Given the description of an element on the screen output the (x, y) to click on. 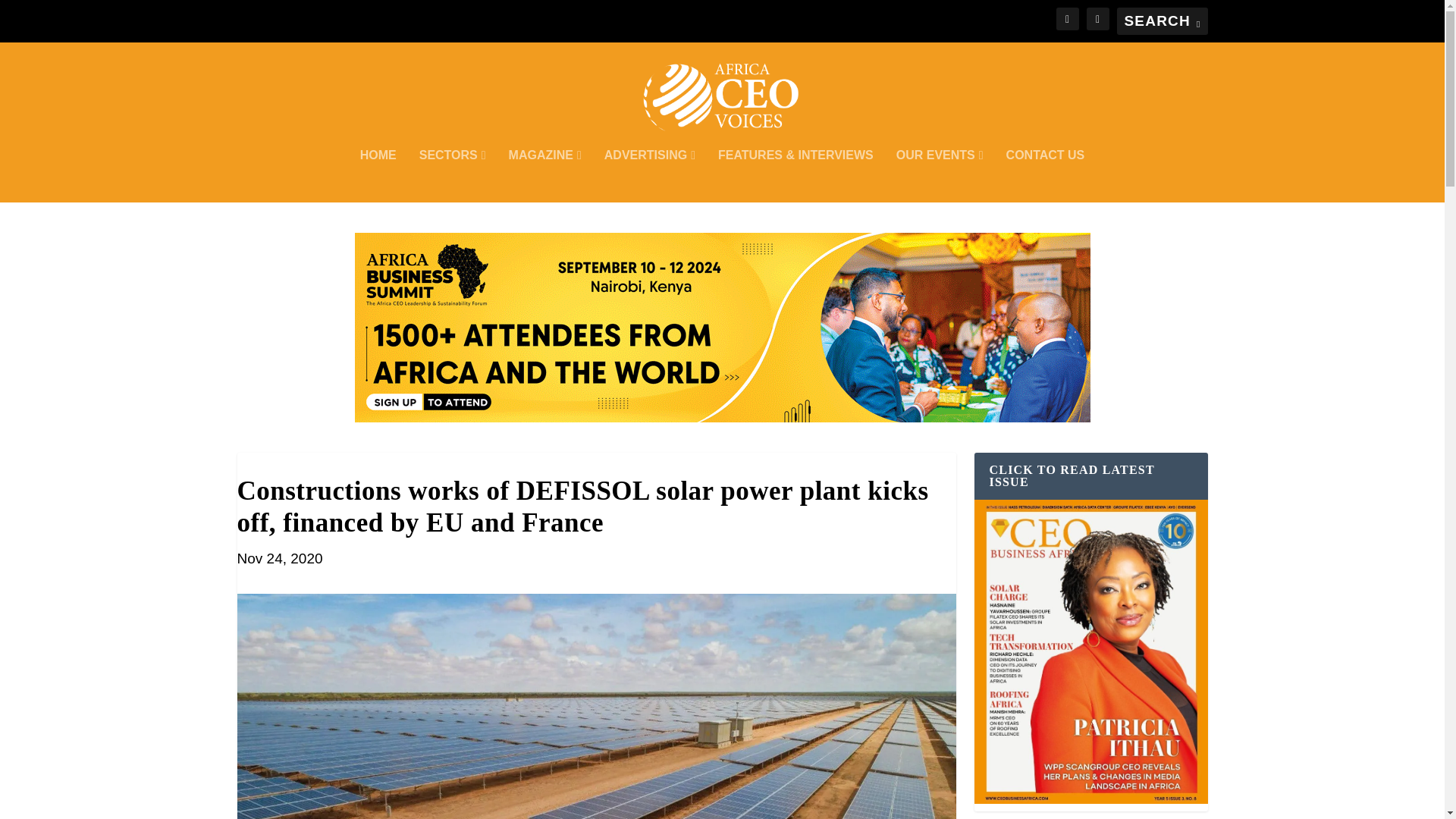
OUR EVENTS (940, 175)
SECTORS (452, 175)
ADVERTISING (649, 175)
Search for: (1161, 21)
MAGAZINE (544, 175)
CONTACT US (1045, 175)
